Given the description of an element on the screen output the (x, y) to click on. 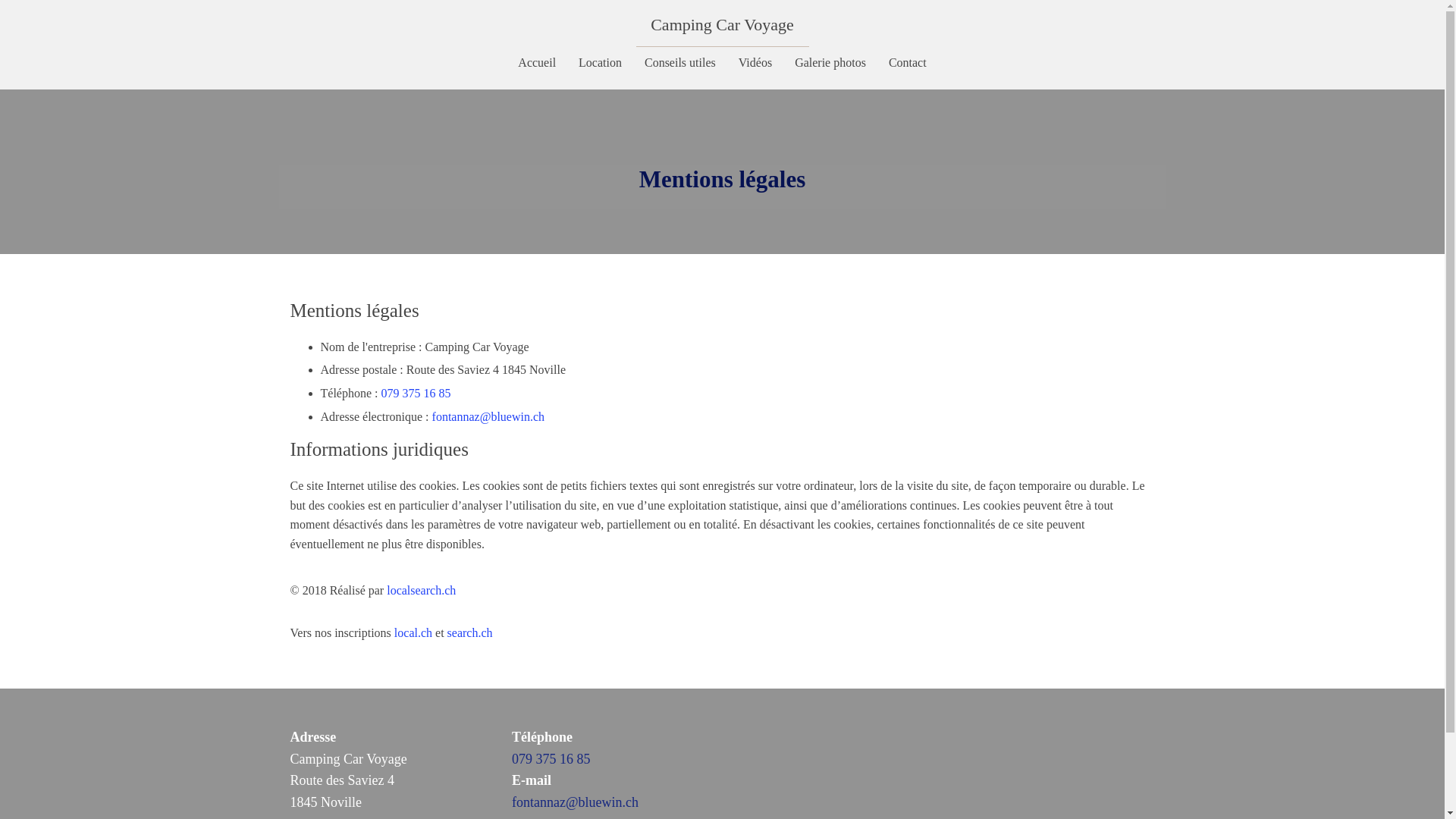
Camping Car Voyage Element type: text (721, 24)
079 375 16 85 Element type: text (550, 758)
Location Element type: text (599, 62)
local.ch Element type: text (413, 632)
search.ch Element type: text (469, 632)
fontannaz@bluewin.ch Element type: text (488, 416)
Galerie photos Element type: text (830, 62)
localsearch.ch Element type: text (420, 589)
079 375 16 85 Element type: text (415, 392)
Contact Element type: text (907, 62)
Conseils utiles Element type: text (679, 62)
Accueil Element type: text (536, 62)
fontannaz@bluewin.ch Element type: text (574, 801)
